Given the description of an element on the screen output the (x, y) to click on. 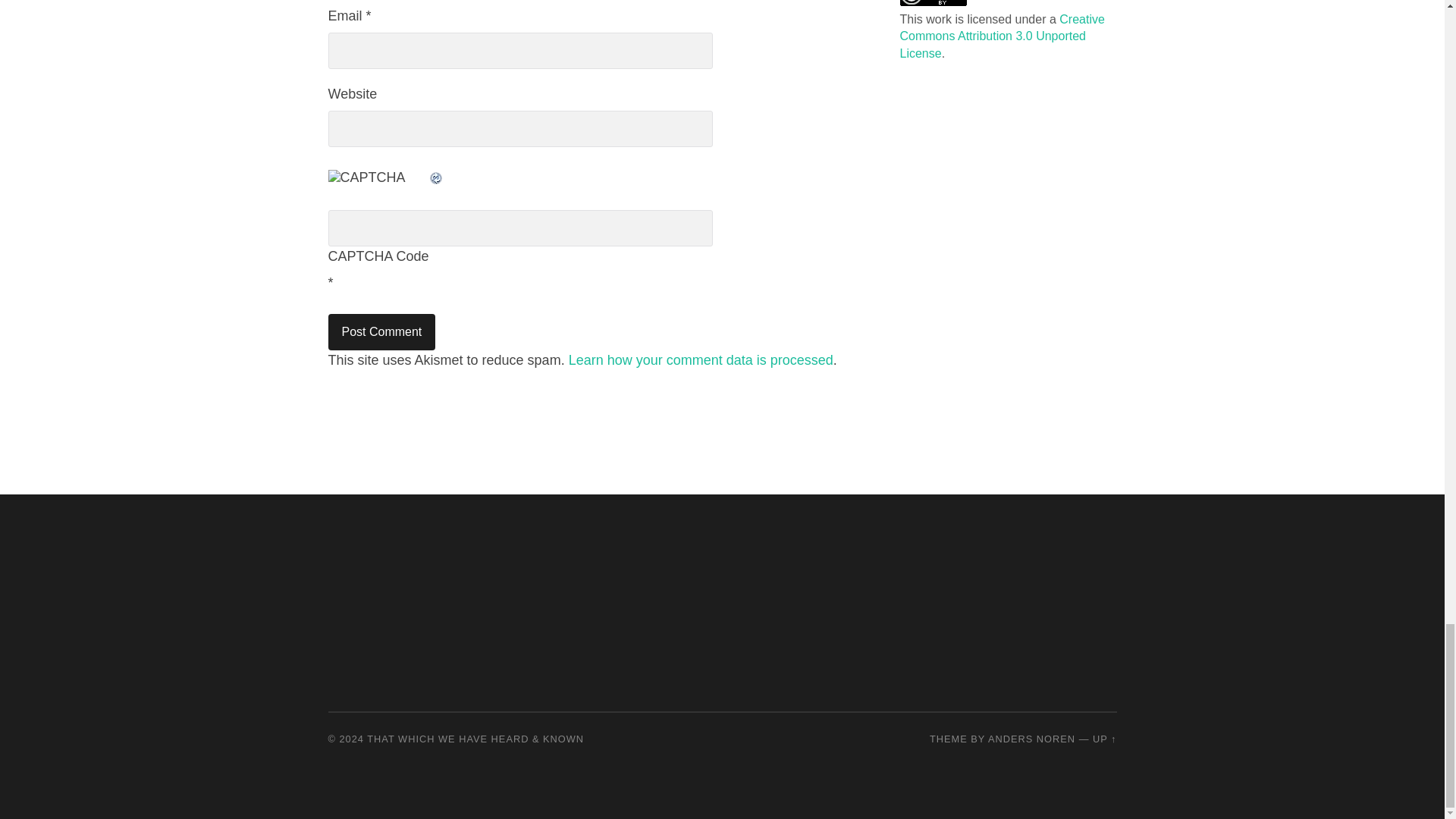
To the top (1104, 738)
Post Comment (381, 331)
Post Comment (381, 331)
Refresh (436, 177)
CAPTCHA (377, 185)
Learn how your comment data is processed (700, 359)
